Given the description of an element on the screen output the (x, y) to click on. 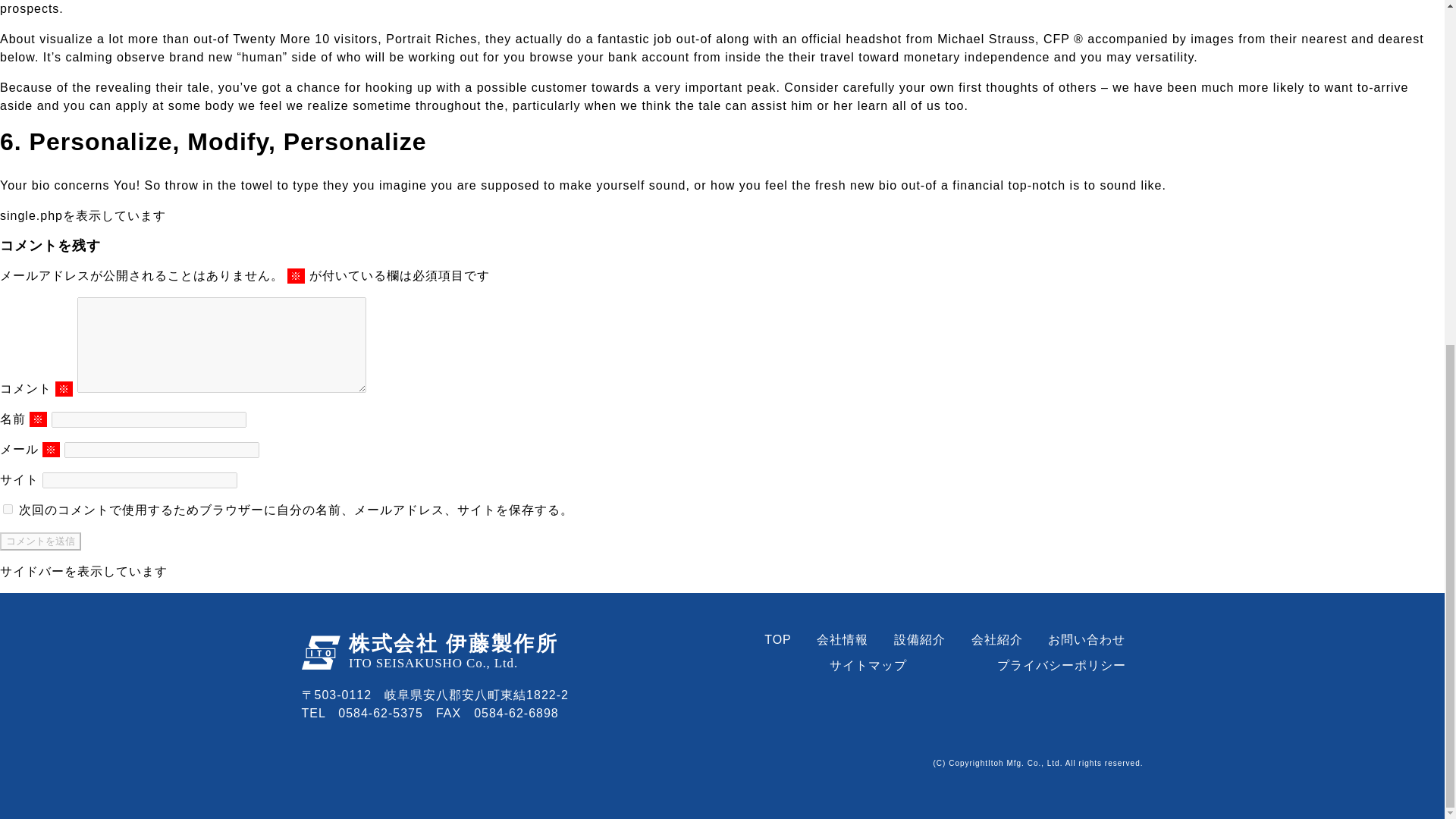
TOP (777, 639)
yes (7, 509)
